Given the description of an element on the screen output the (x, y) to click on. 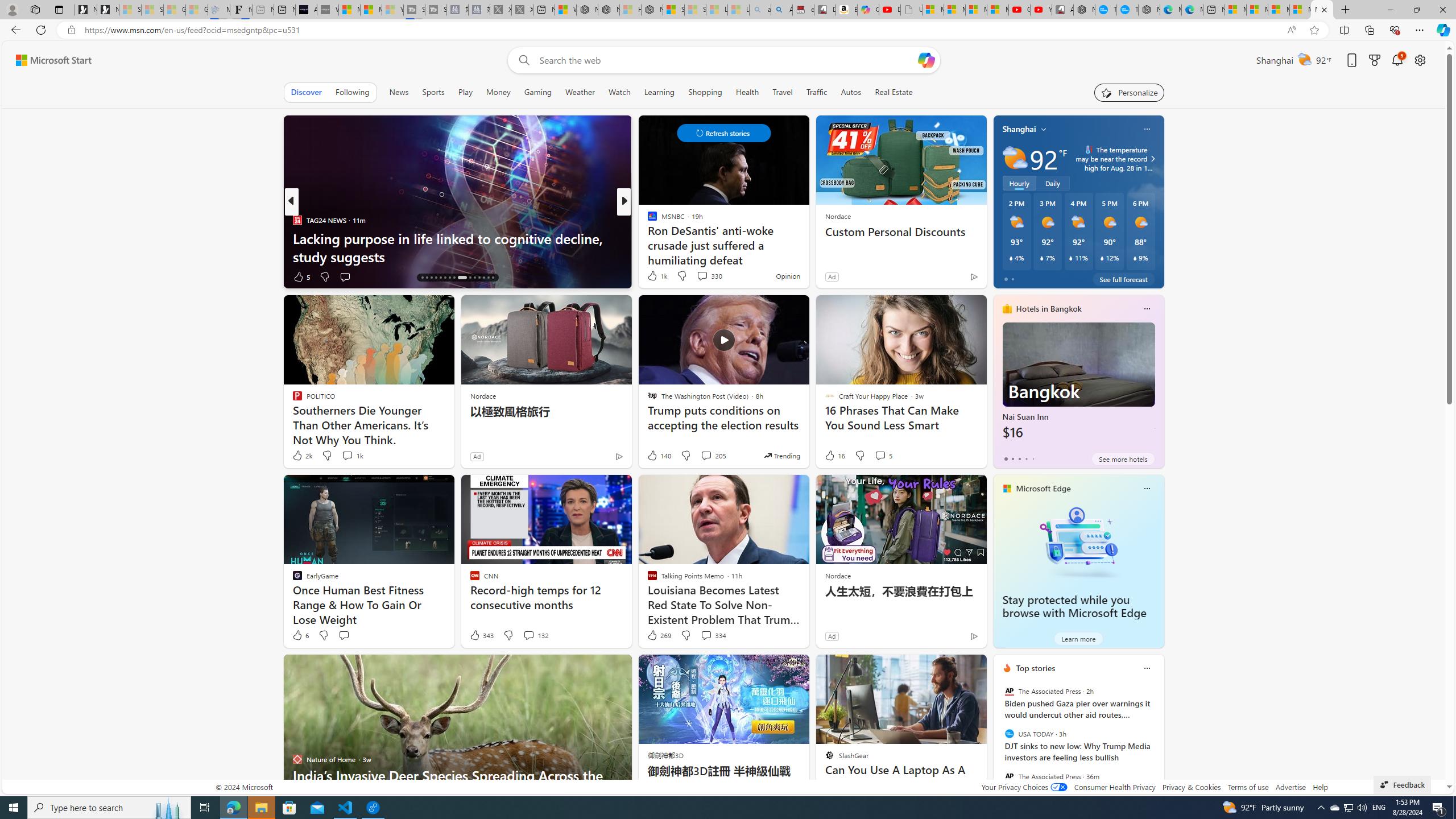
Daily (1052, 183)
View comments 330 Comment (701, 275)
Hotels in Bangkok (1048, 308)
Nai Suan Inn (1077, 385)
Class: weather-arrow-glyph (1152, 158)
Comments turned off for this story (694, 276)
next (1158, 741)
View comments 96 Comment (707, 276)
Business Insider (647, 219)
